Given the description of an element on the screen output the (x, y) to click on. 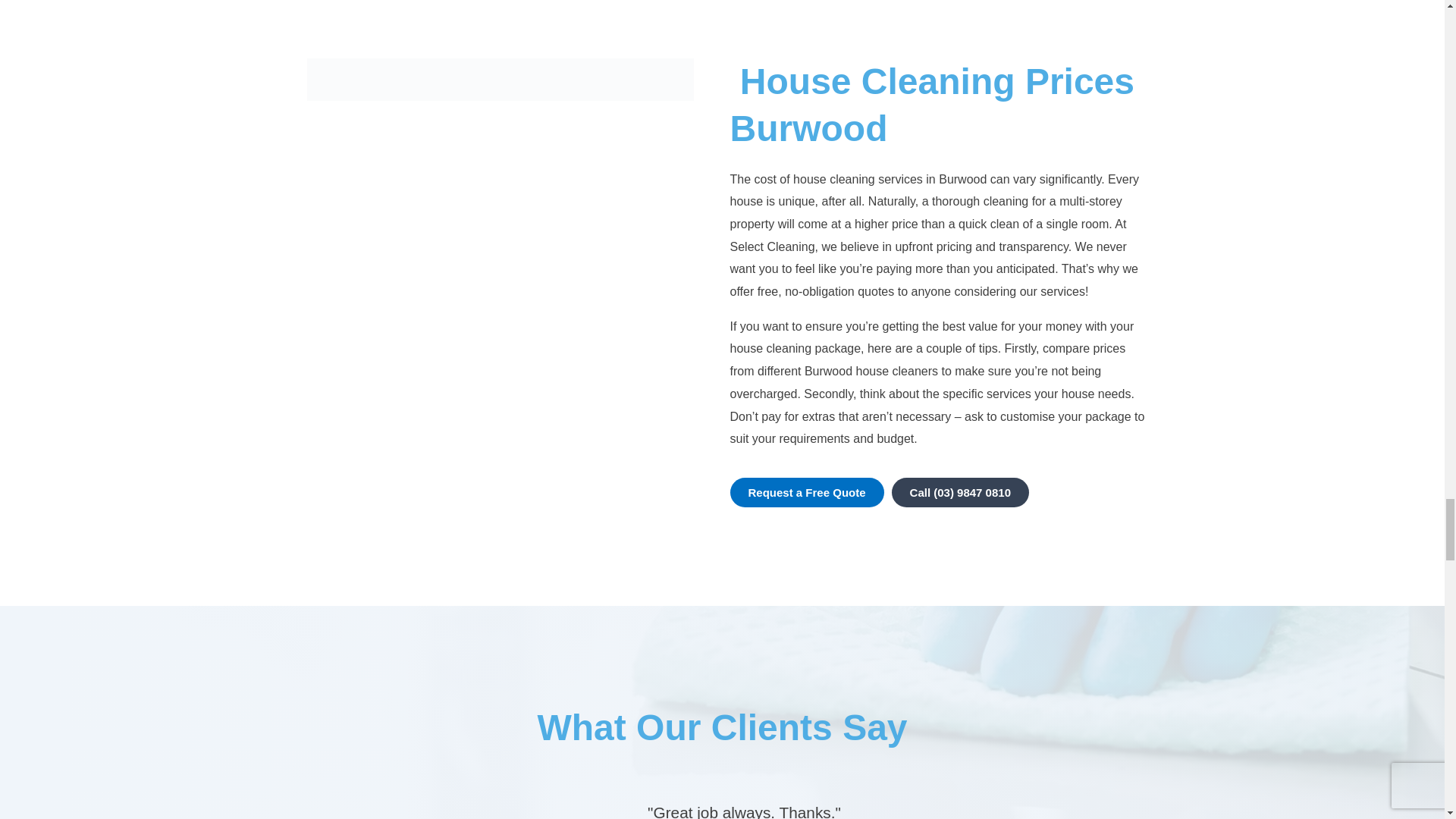
House Cleaning Burwood (499, 79)
